Given the description of an element on the screen output the (x, y) to click on. 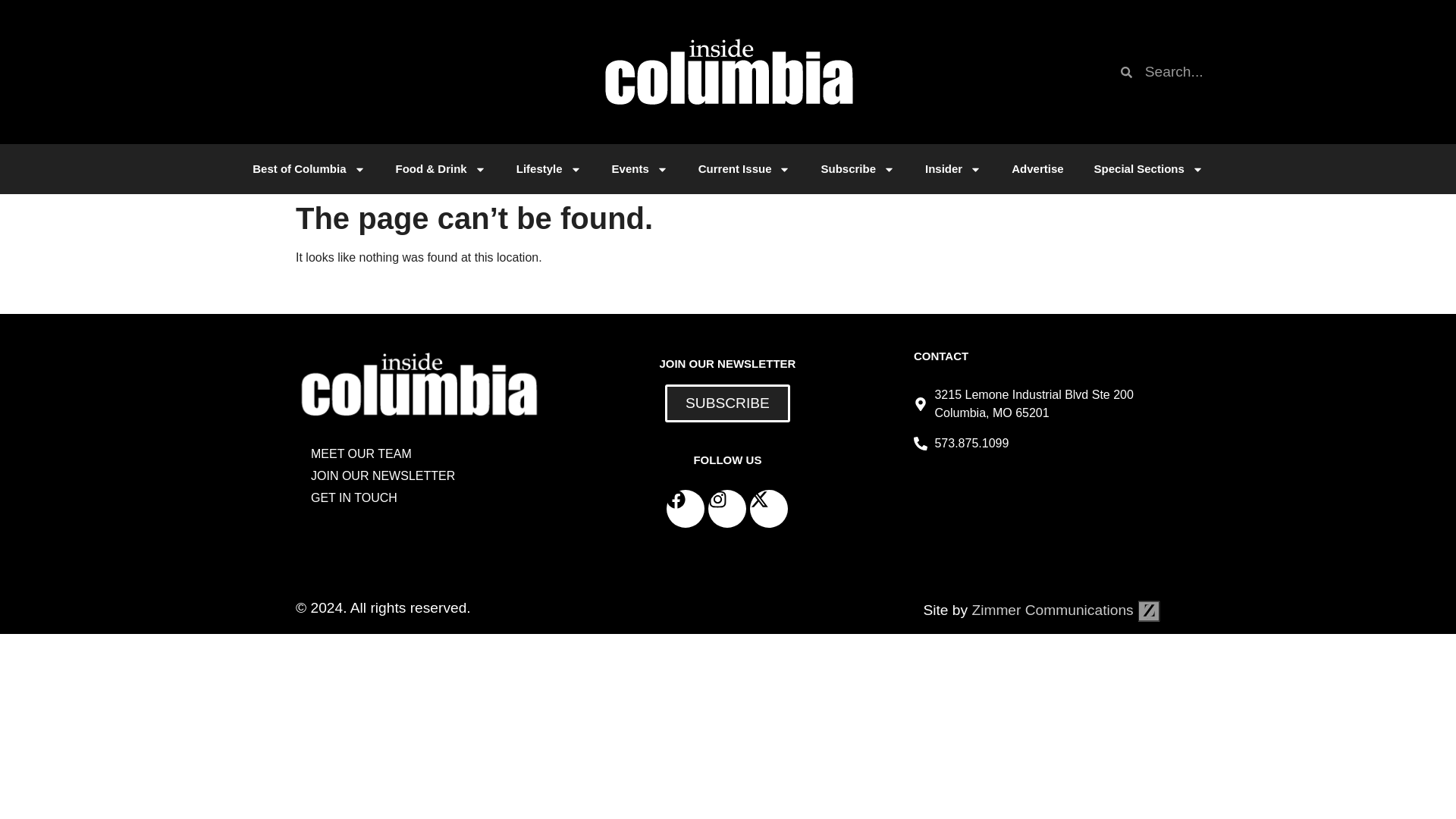
Insider (952, 168)
Current Issue (744, 168)
Lifestyle (548, 168)
Events (639, 168)
Best of Columbia (308, 168)
Subscribe (857, 168)
